Given the description of an element on the screen output the (x, y) to click on. 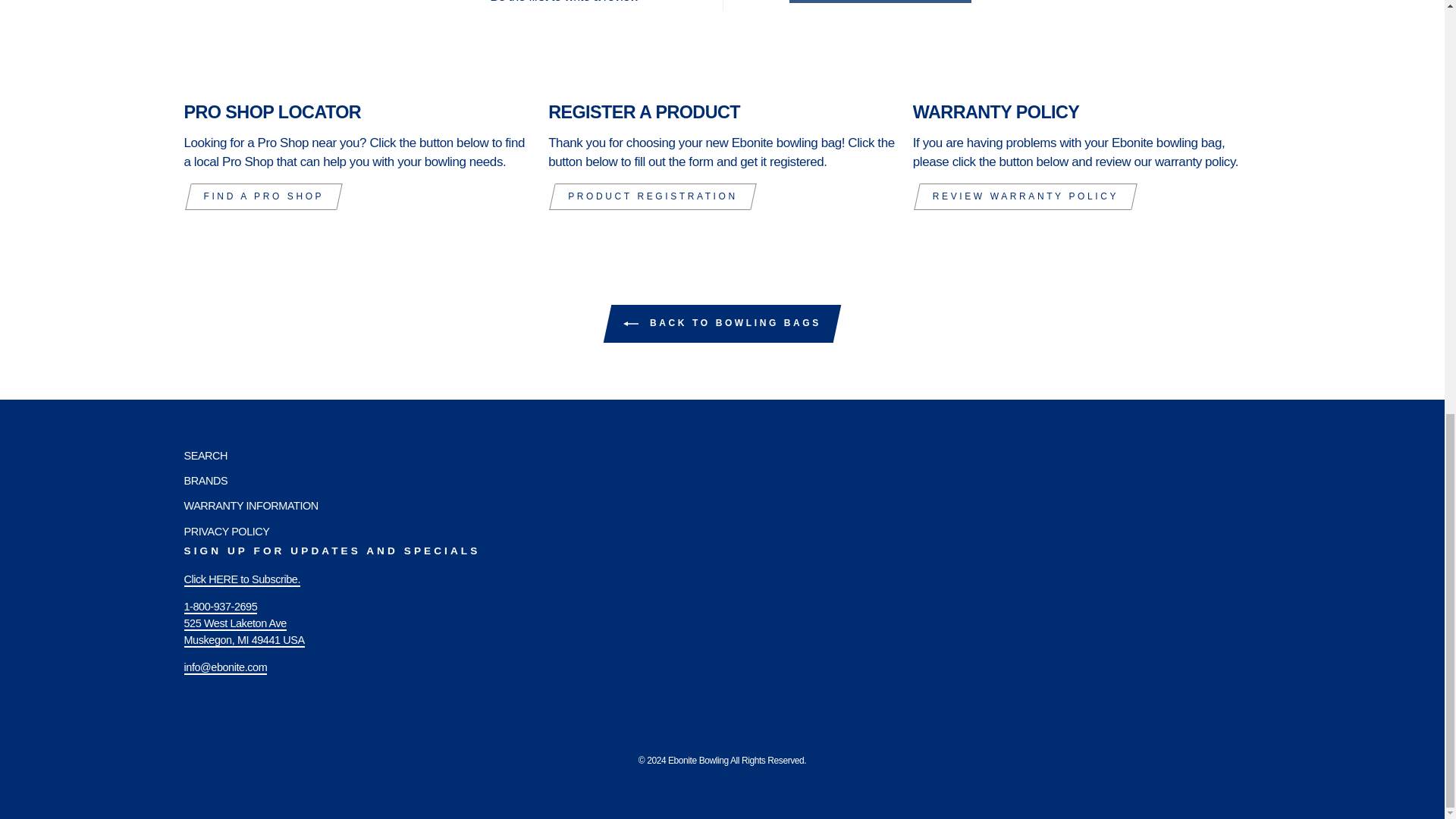
tel:1-800-937-2695 (220, 615)
ICON-LEFT-ARROW (631, 323)
